Given the description of an element on the screen output the (x, y) to click on. 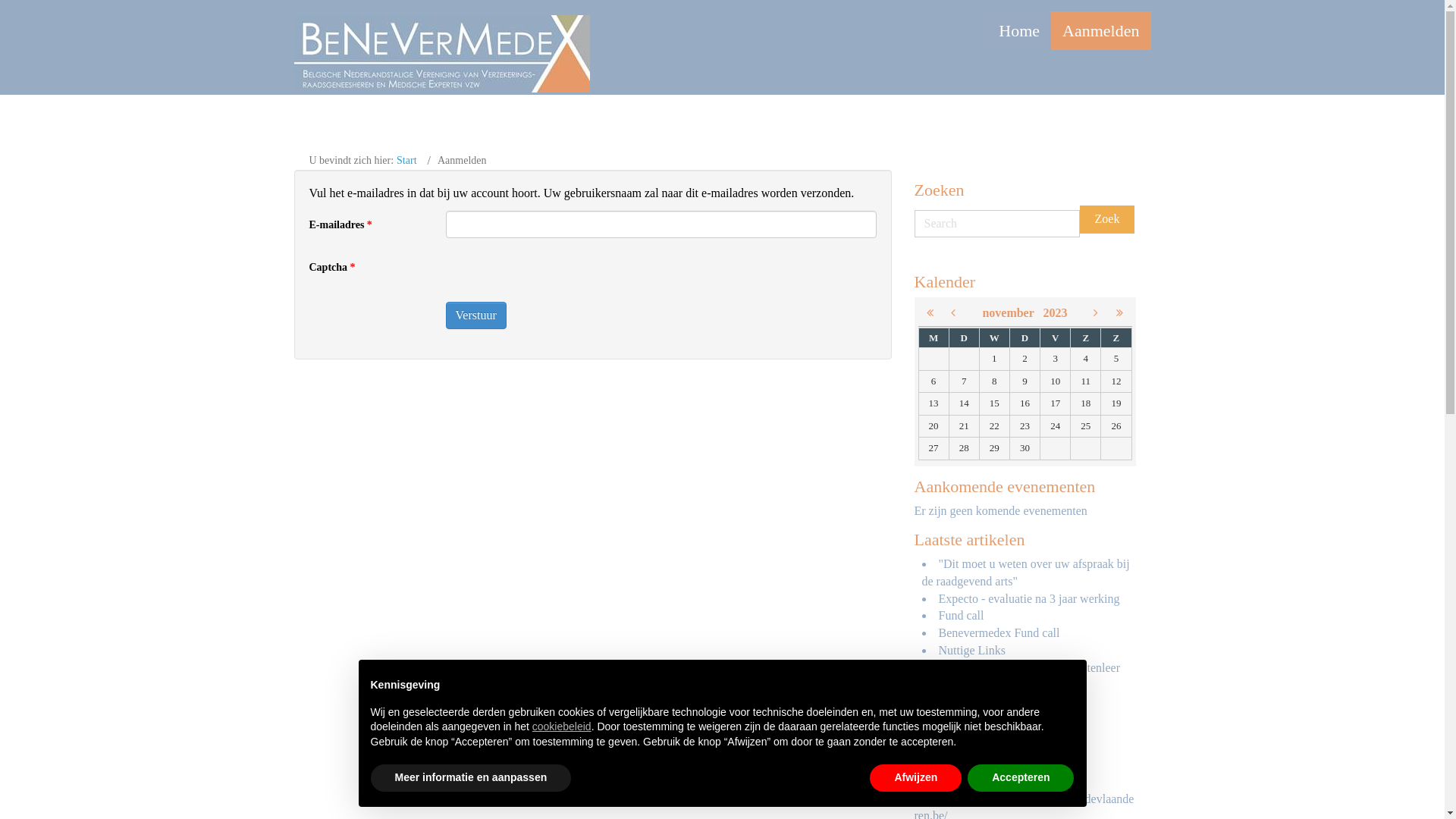
Aanmelden Element type: text (1100, 30)
Wie zijn wij? Element type: text (971, 718)
Benevermedex Fund call Element type: text (999, 632)
Fund call Element type: text (961, 614)
Start Element type: text (406, 160)
Accepteren Element type: text (1020, 777)
Afwijzen Element type: text (915, 777)
Verstuur Element type: text (475, 315)
Meer informatie en aanpassen Element type: text (470, 777)
Zoek Element type: text (1107, 219)
Home Element type: text (1019, 30)
2023 Element type: text (1055, 312)
"Dit moet u weten over uw afspraak bij de raadgevend arts" Element type: text (1025, 572)
Nuttige Links Element type: text (971, 649)
cookiebeleid Element type: text (561, 726)
november   Element type: text (1012, 312)
http://www.abefradoc.eu/ Element type: text (975, 772)
Communicatie Element type: text (974, 684)
Code van geneeskundige plichtenleer Element type: text (1029, 667)
Wat doen wij? Element type: text (973, 702)
Expecto - evaluatie na 3 jaar werking Element type: text (1029, 598)
